Given the description of an element on the screen output the (x, y) to click on. 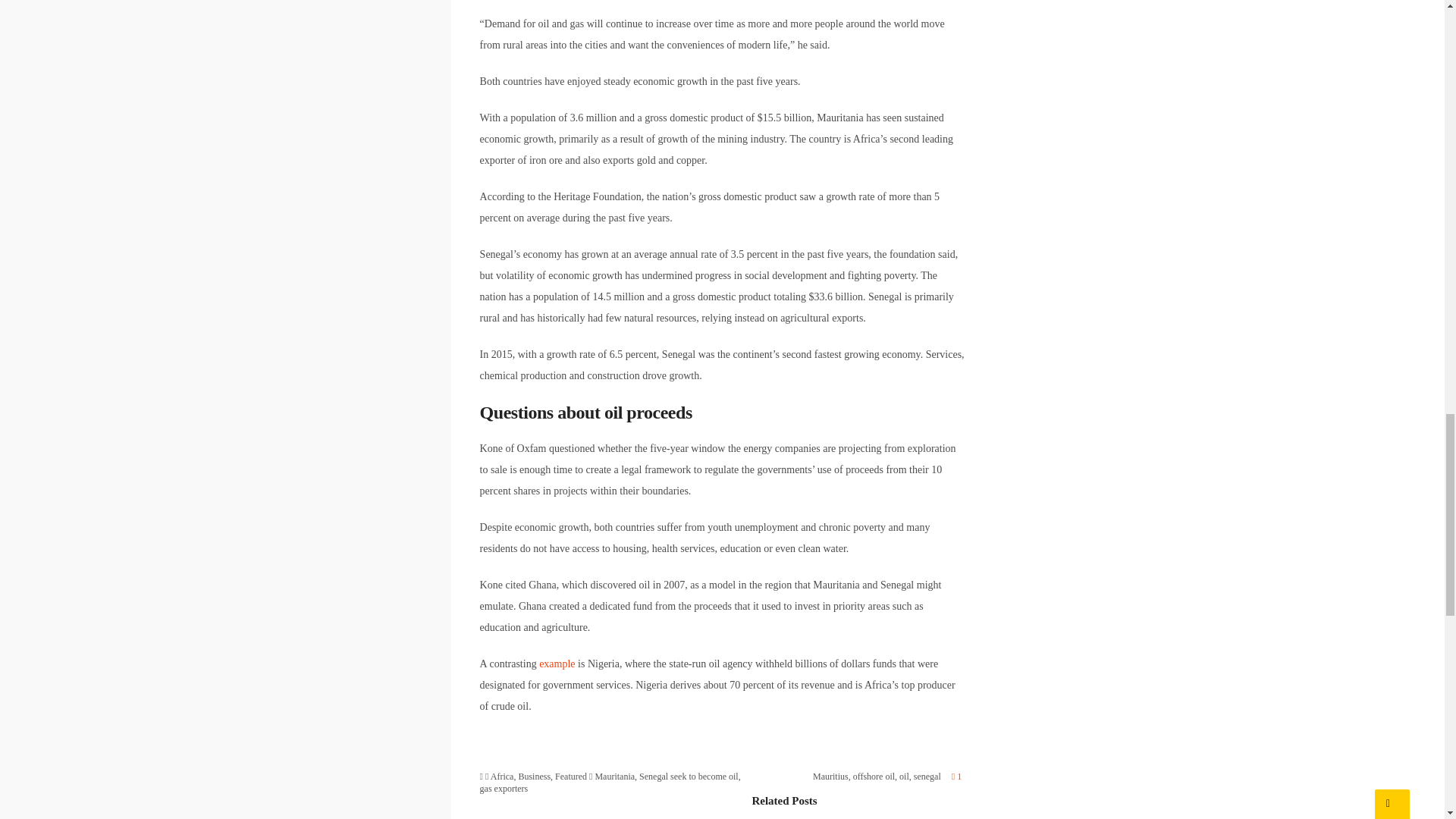
senegal (927, 776)
 1 (956, 776)
Business (534, 776)
Mauritius (830, 776)
Like (956, 776)
offshore oil (874, 776)
example (556, 663)
Featured (570, 776)
oil (903, 776)
Africa (501, 776)
